Given the description of an element on the screen output the (x, y) to click on. 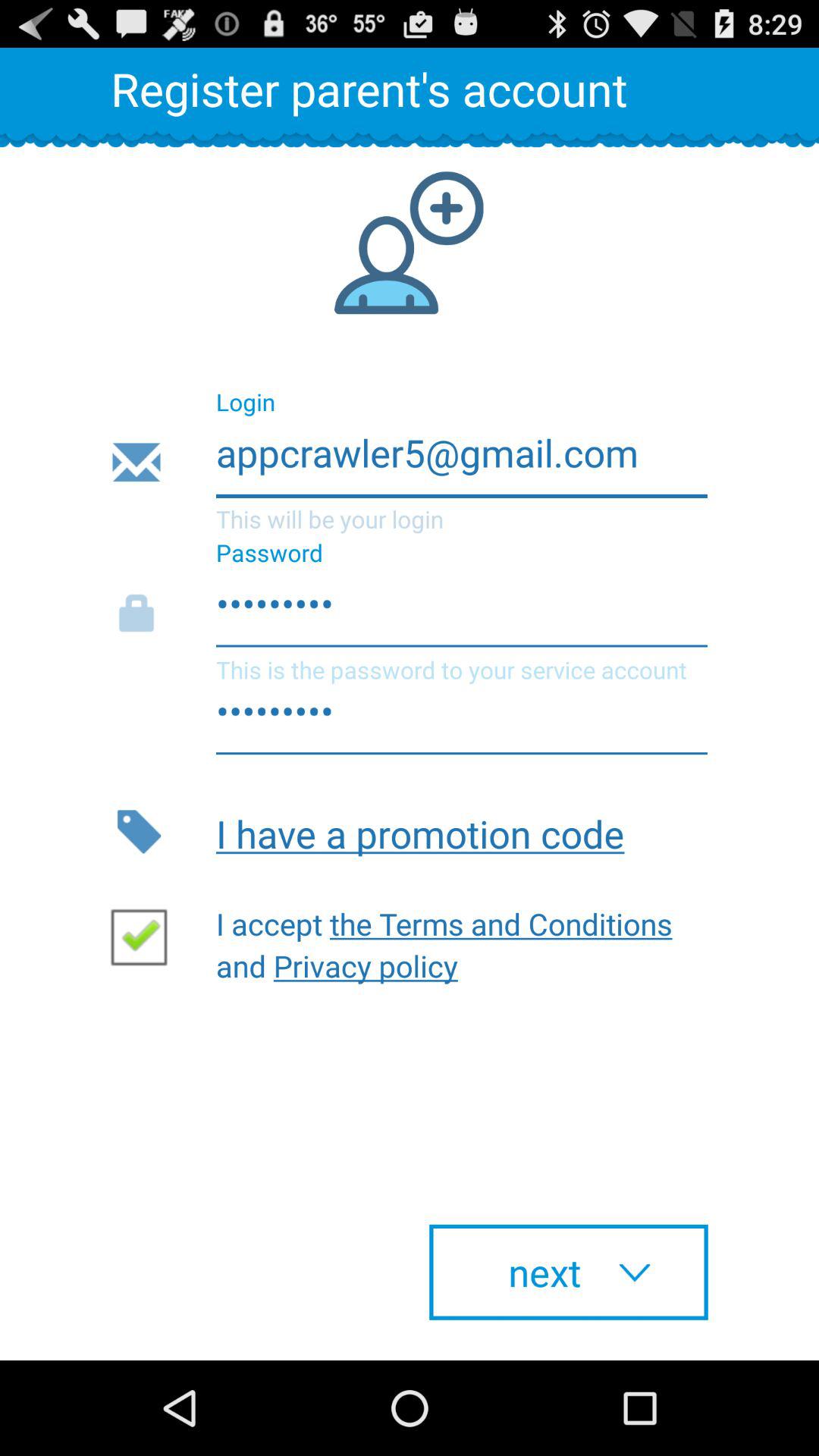
launch the icon below i have a item (451, 940)
